Given the description of an element on the screen output the (x, y) to click on. 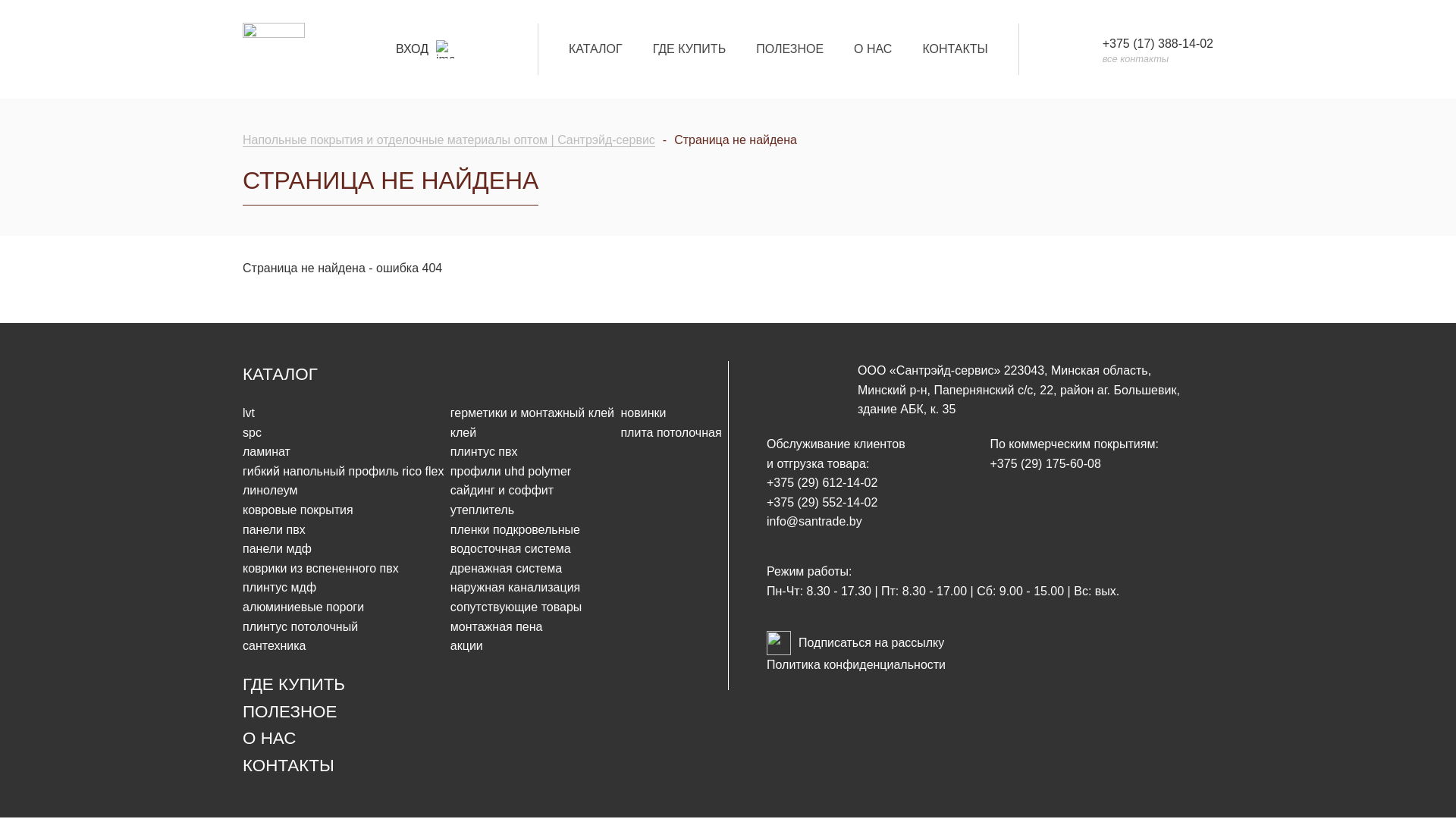
info@santrade.by Element type: text (814, 520)
spc Element type: text (251, 432)
+375 (29) 552-14-02 Element type: text (821, 501)
+375 (29) 612-14-02 Element type: text (821, 482)
lvt Element type: text (248, 412)
+375 (29) 175-60-08 Element type: text (1045, 463)
+375 (17) 388-14-02 Element type: text (1157, 43)
